Given the description of an element on the screen output the (x, y) to click on. 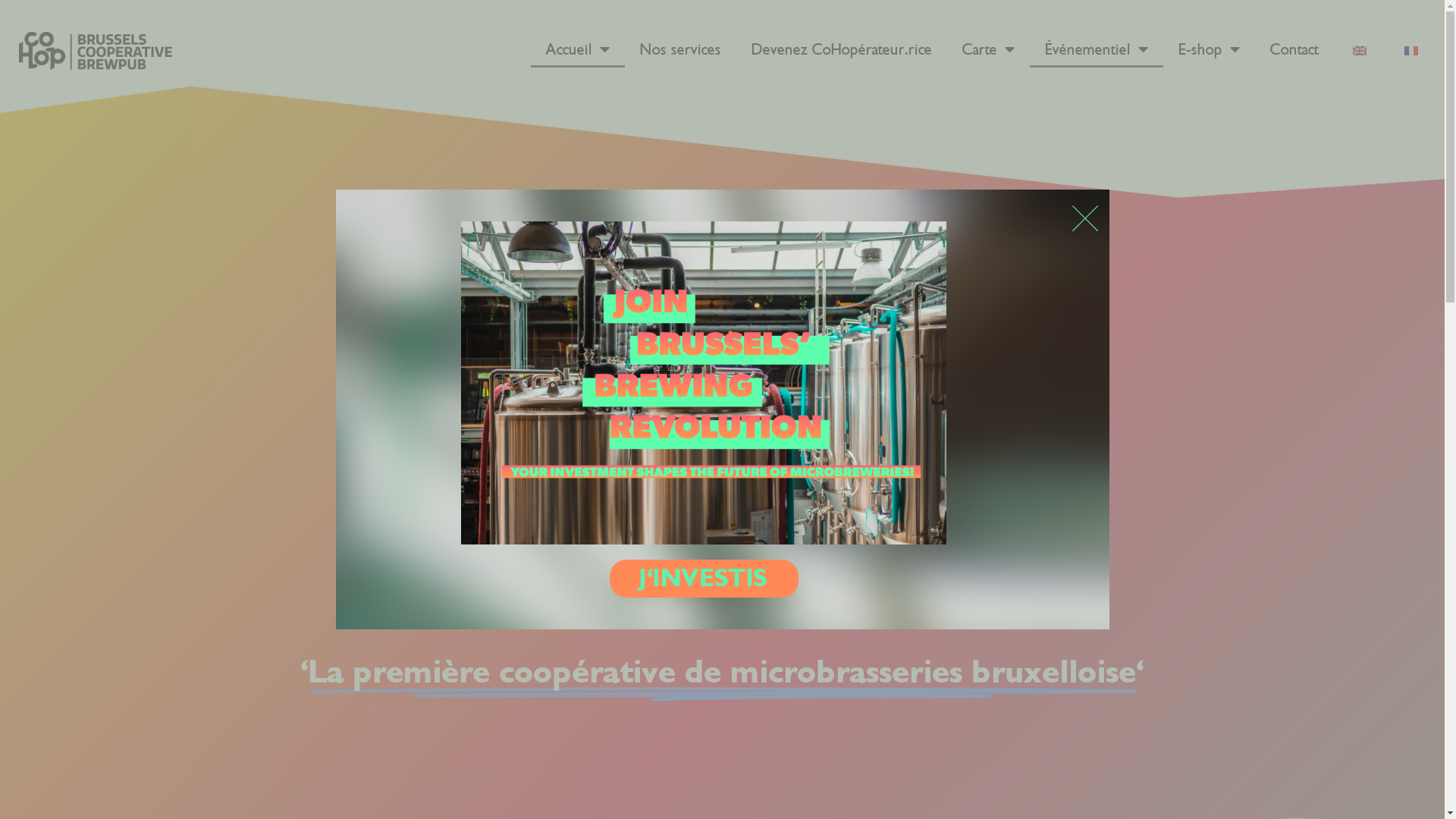
Nos services Element type: text (680, 49)
English (UK) Element type: hover (1359, 49)
Accueil Element type: text (577, 49)
E-shop Element type: text (1209, 49)
J'INVESTIS Element type: text (703, 578)
Contact Element type: text (1294, 49)
CoHop Pied de page BLACK Element type: hover (95, 50)
Carte Element type: text (988, 49)
